Given the description of an element on the screen output the (x, y) to click on. 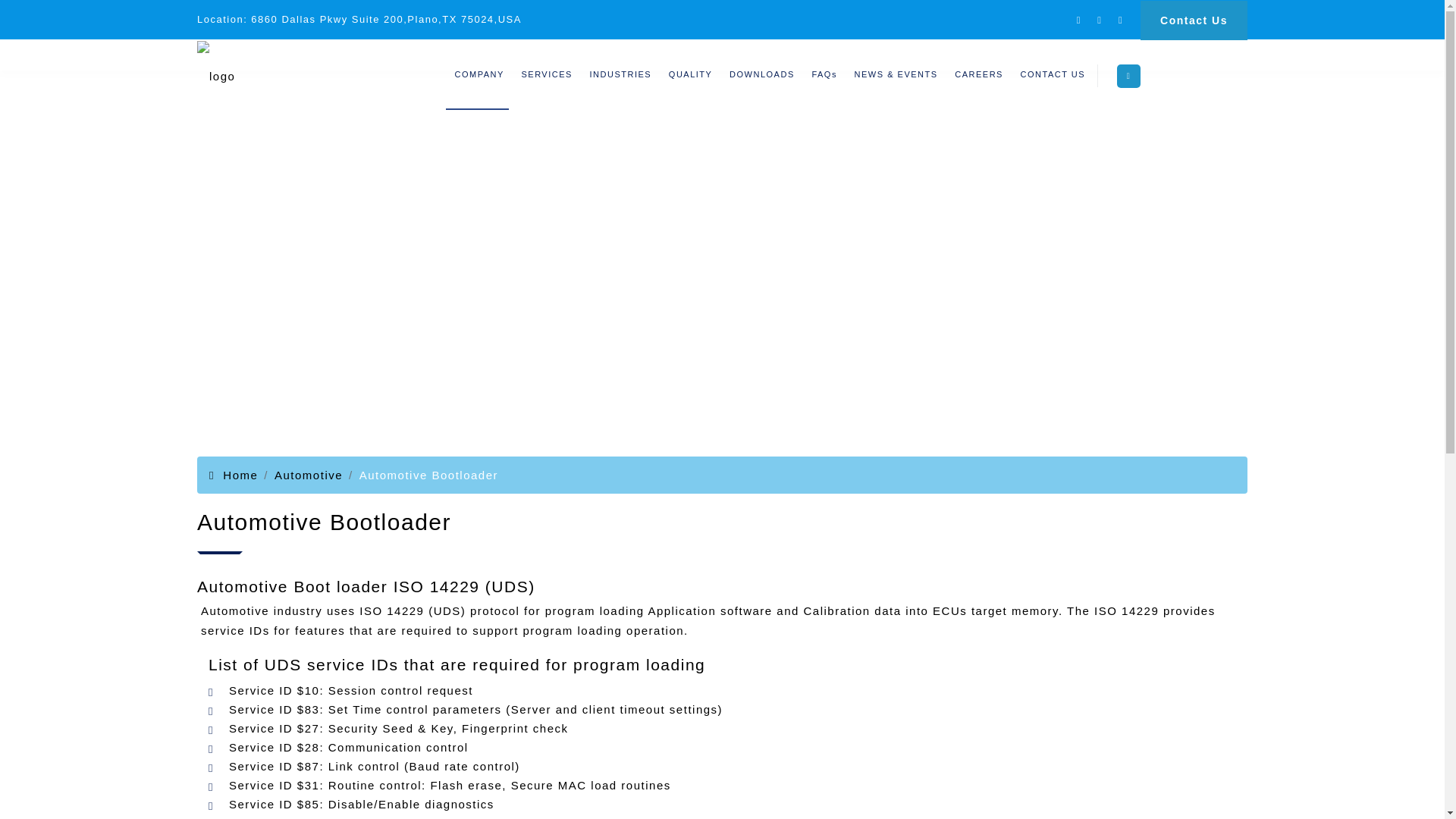
SERVICES (721, 454)
Contact Us (544, 74)
